Given the description of an element on the screen output the (x, y) to click on. 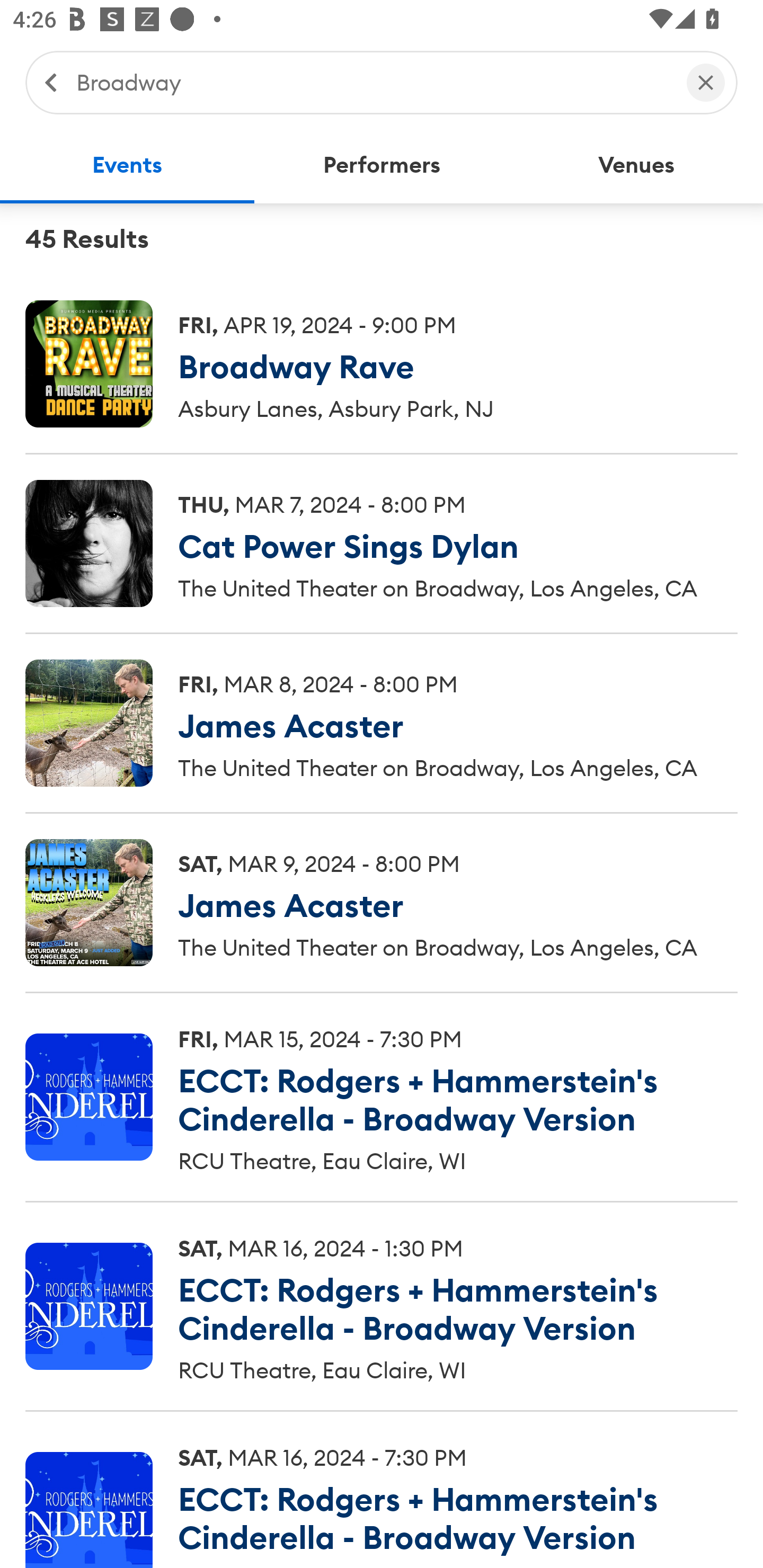
Broadway (371, 81)
Clear Search (705, 81)
Performers (381, 165)
Venues (635, 165)
